Given the description of an element on the screen output the (x, y) to click on. 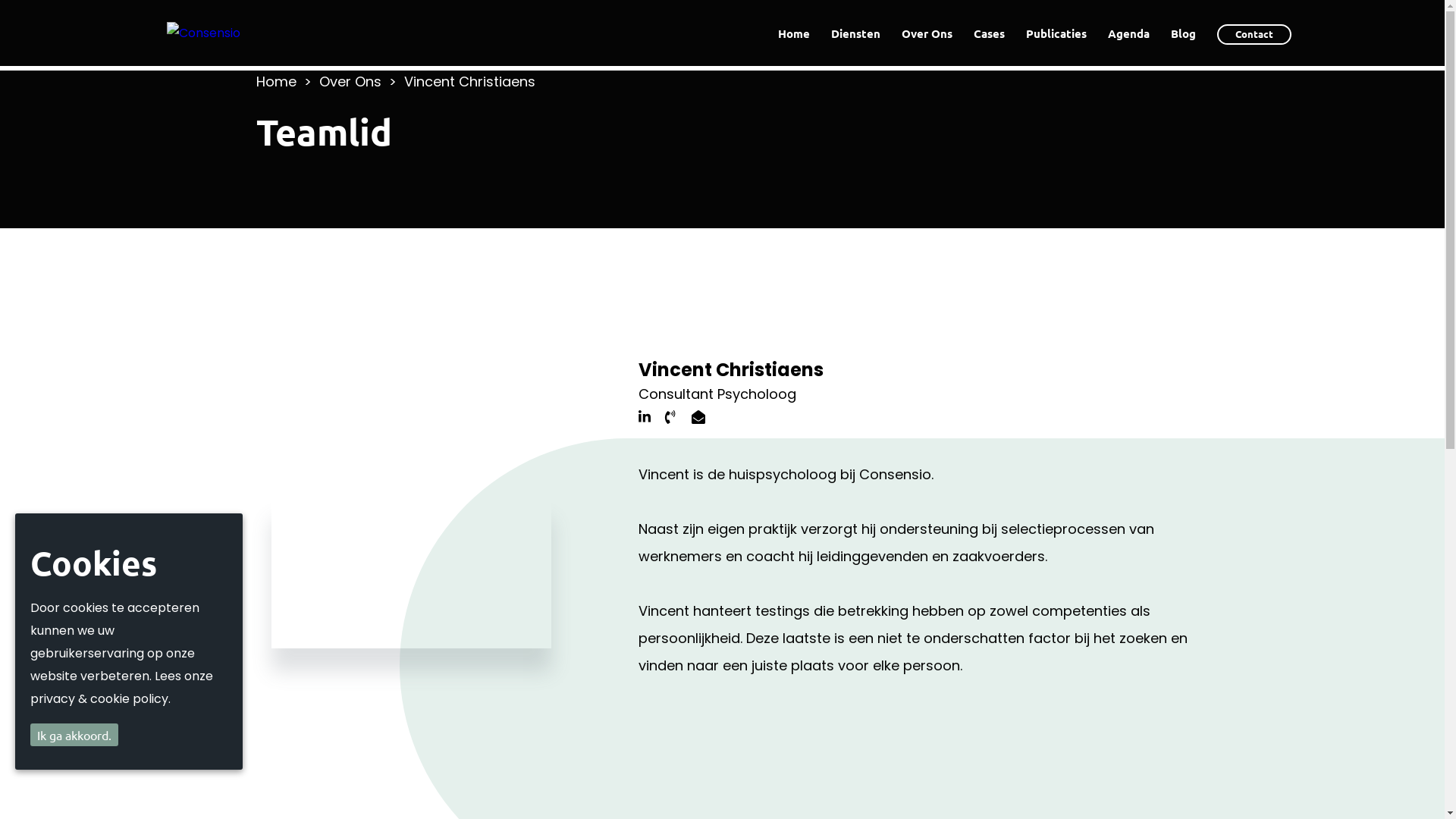
Contact Element type: text (1254, 34)
Skip to content Element type: text (0, 70)
Diensten Element type: text (855, 32)
Over Ons Element type: text (927, 32)
Lees onze privacy & cookie policy. Element type: text (121, 687)
Cases Element type: text (989, 32)
Publicaties Element type: text (1056, 32)
Agenda Element type: text (1128, 32)
Over Ons Element type: text (349, 81)
Blog Element type: text (1183, 32)
Home Element type: text (793, 32)
Home Element type: text (276, 81)
Ik ga akkoord. Element type: text (74, 734)
